Given the description of an element on the screen output the (x, y) to click on. 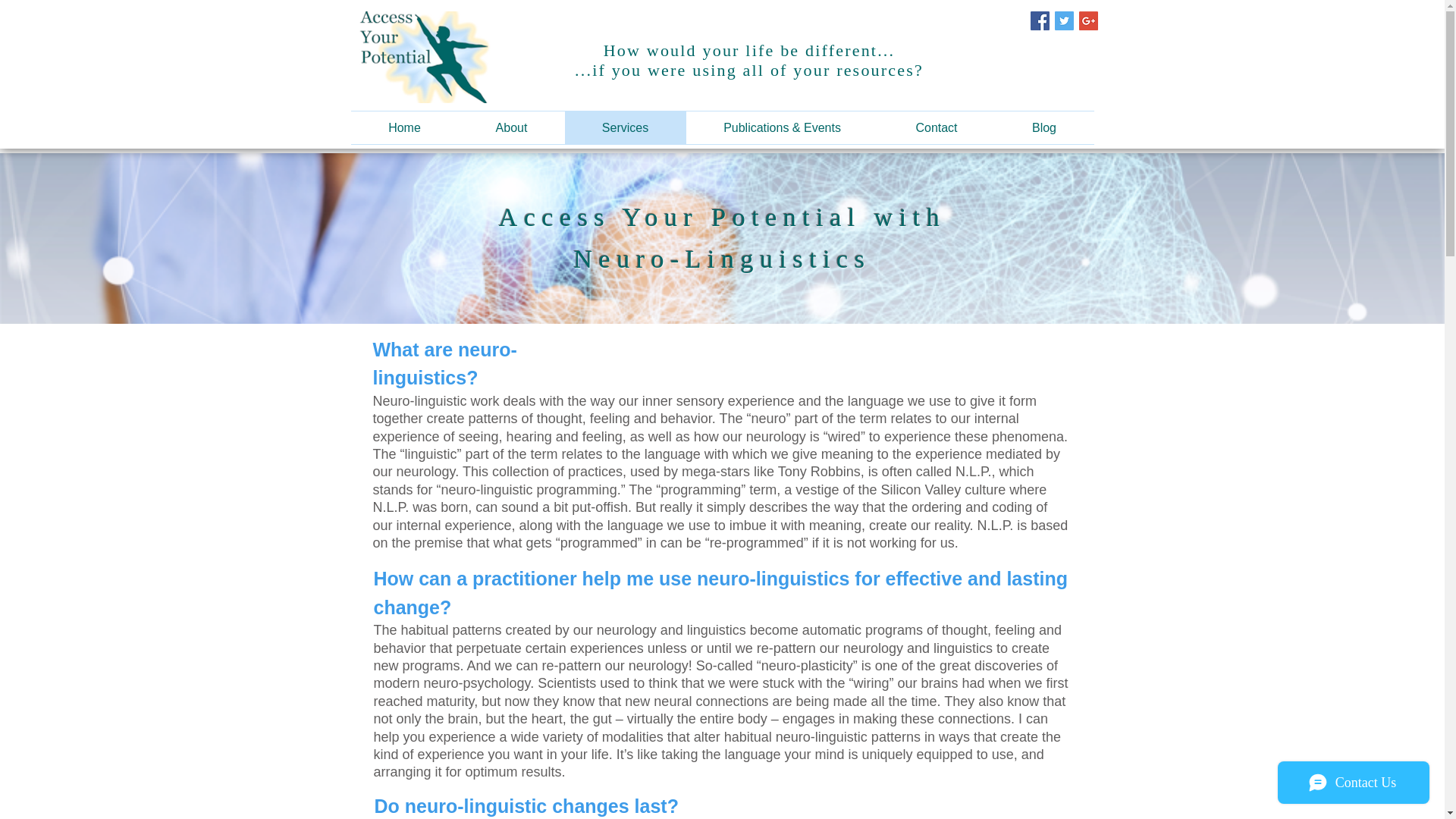
Home (404, 127)
Services (624, 127)
Blog (1044, 127)
About (511, 127)
Contact (935, 127)
